Given the description of an element on the screen output the (x, y) to click on. 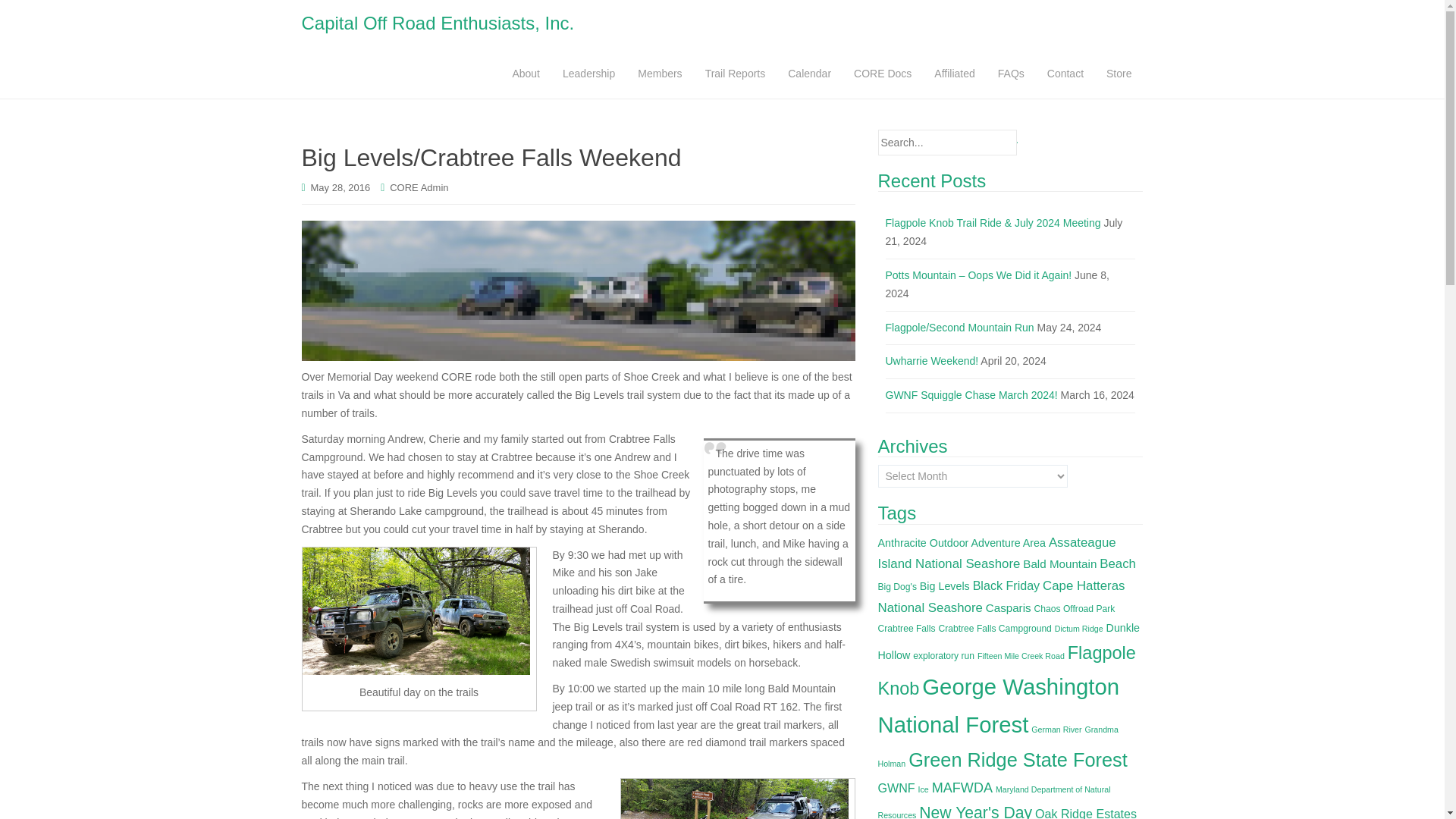
Calendar (809, 73)
Contact (1064, 73)
Store (1118, 73)
CORE Docs (883, 73)
Calendar (809, 73)
Capital Off Road Enthusiasts, Inc. (437, 23)
FAQs (1011, 73)
FAQs (1011, 73)
Leadership (588, 73)
Members (659, 73)
